Given the description of an element on the screen output the (x, y) to click on. 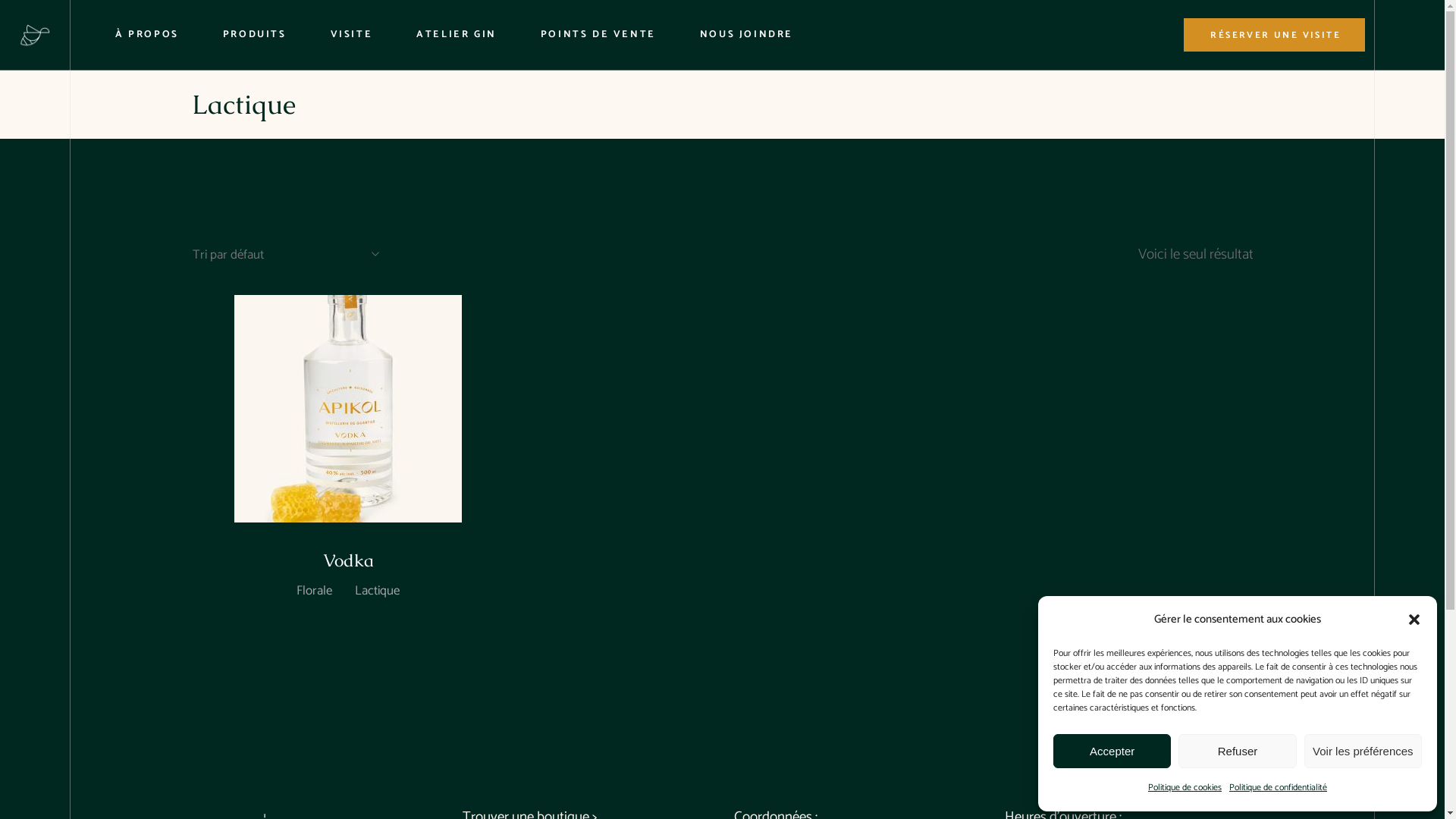
Refuser Element type: text (1236, 751)
Accepter Element type: text (1111, 751)
Florale Element type: text (314, 591)
ATELIER GIN Element type: text (456, 34)
Lactique Element type: text (376, 591)
NOUS JOINDRE Element type: text (746, 34)
Politique de cookies Element type: text (1184, 787)
PRODUITS Element type: text (254, 34)
VISITE Element type: text (351, 34)
POINTS DE VENTE Element type: text (597, 34)
